Given the description of an element on the screen output the (x, y) to click on. 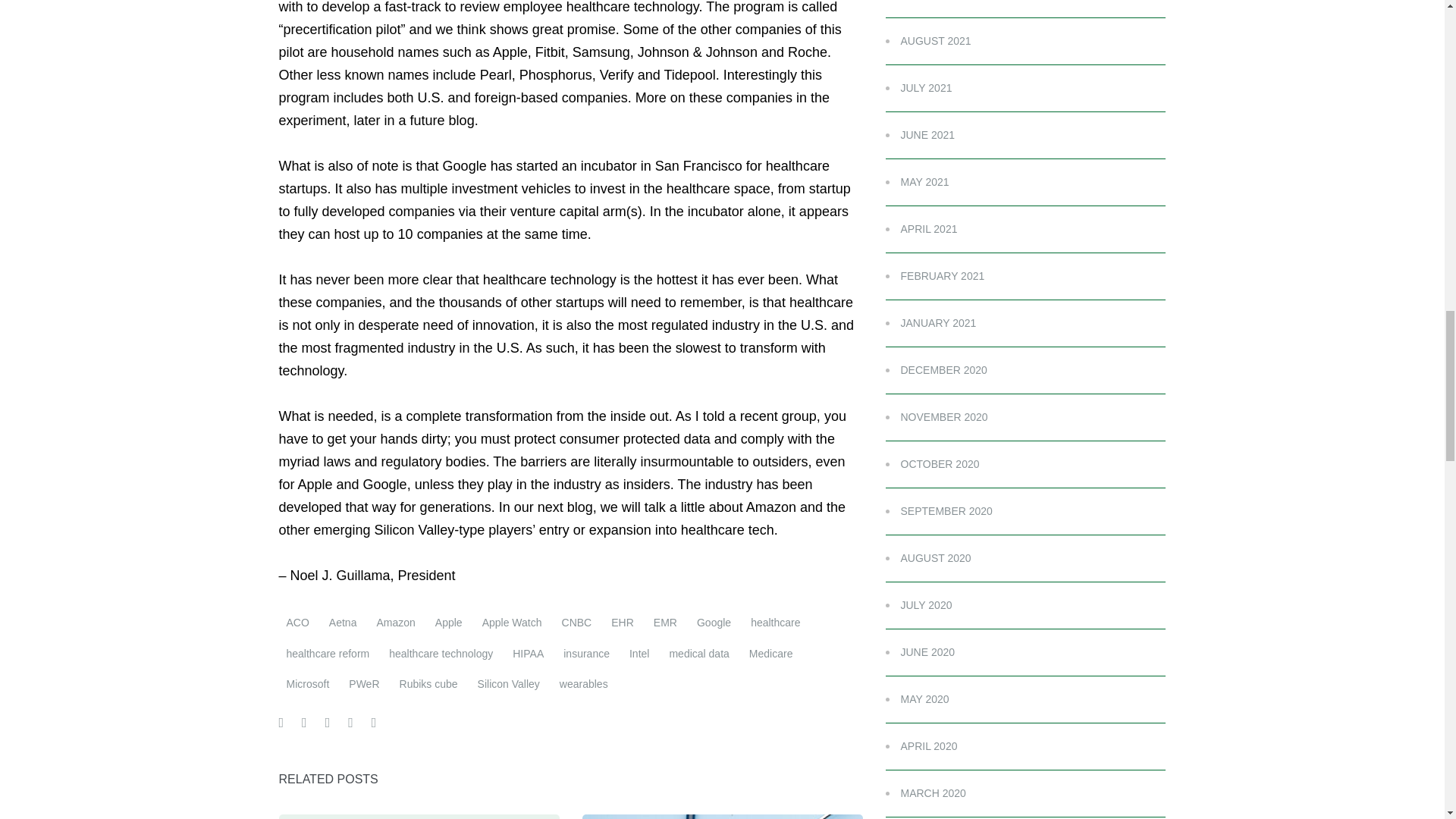
Apple (449, 622)
wearables (583, 683)
Intel (638, 653)
Medicare (770, 653)
Amazon (395, 622)
Google (713, 622)
Silicon Valley (508, 683)
CNBC (576, 622)
HIPAA (528, 653)
insurance (586, 653)
Rubiks cube (428, 683)
EMR (665, 622)
PWeR (363, 683)
Microsoft (308, 683)
Apple Watch (512, 622)
